Given the description of an element on the screen output the (x, y) to click on. 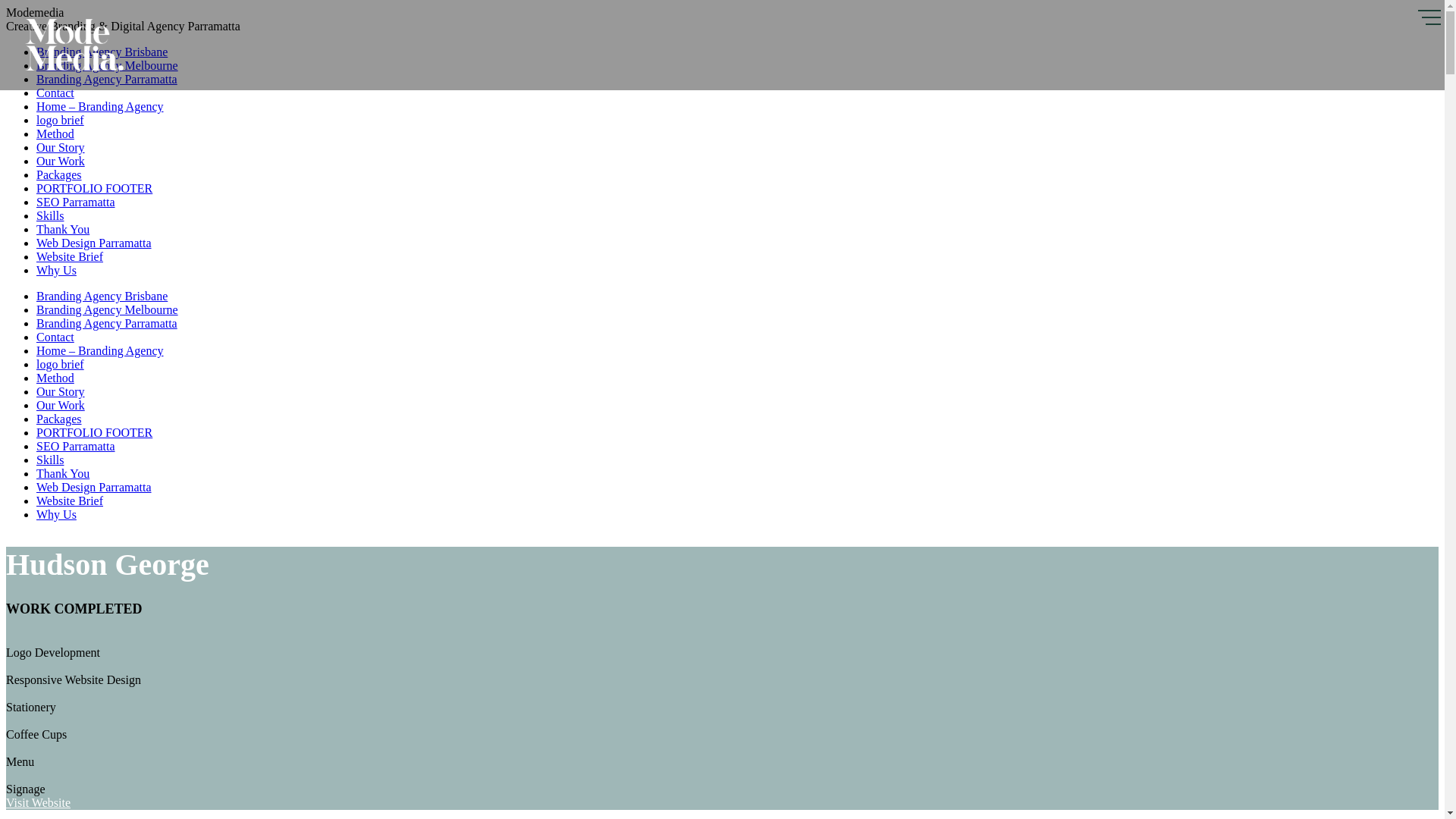
Branding Agency Brisbane Element type: text (101, 295)
Modemedia Element type: hover (74, 67)
Web Design Parramatta Element type: text (93, 486)
Our Story Element type: text (60, 147)
Website Brief Element type: text (69, 500)
Branding Agency Brisbane Element type: text (101, 51)
PORTFOLIO FOOTER Element type: text (94, 432)
Visit Website Element type: text (38, 802)
SEO Parramatta Element type: text (75, 445)
Why Us Element type: text (56, 514)
SEO Parramatta Element type: text (75, 201)
Contact Element type: text (55, 92)
Skills Element type: text (49, 215)
logo brief Element type: text (60, 363)
Website Brief Element type: text (69, 256)
Skip to content Element type: text (5, 5)
Why Us Element type: text (56, 269)
Packages Element type: text (58, 418)
Contact Element type: text (55, 336)
Our Work Element type: text (60, 404)
Branding Agency Melbourne Element type: text (107, 65)
Method Element type: text (55, 133)
Skills Element type: text (49, 459)
PORTFOLIO FOOTER Element type: text (94, 188)
Our Story Element type: text (60, 391)
Web Design Parramatta Element type: text (93, 242)
Thank You Element type: text (62, 228)
Our Work Element type: text (60, 160)
Branding Agency Parramatta Element type: text (106, 78)
Branding Agency Melbourne Element type: text (107, 309)
Branding Agency Parramatta Element type: text (106, 322)
Thank You Element type: text (62, 473)
Method Element type: text (55, 377)
Packages Element type: text (58, 174)
logo brief Element type: text (60, 119)
